Given the description of an element on the screen output the (x, y) to click on. 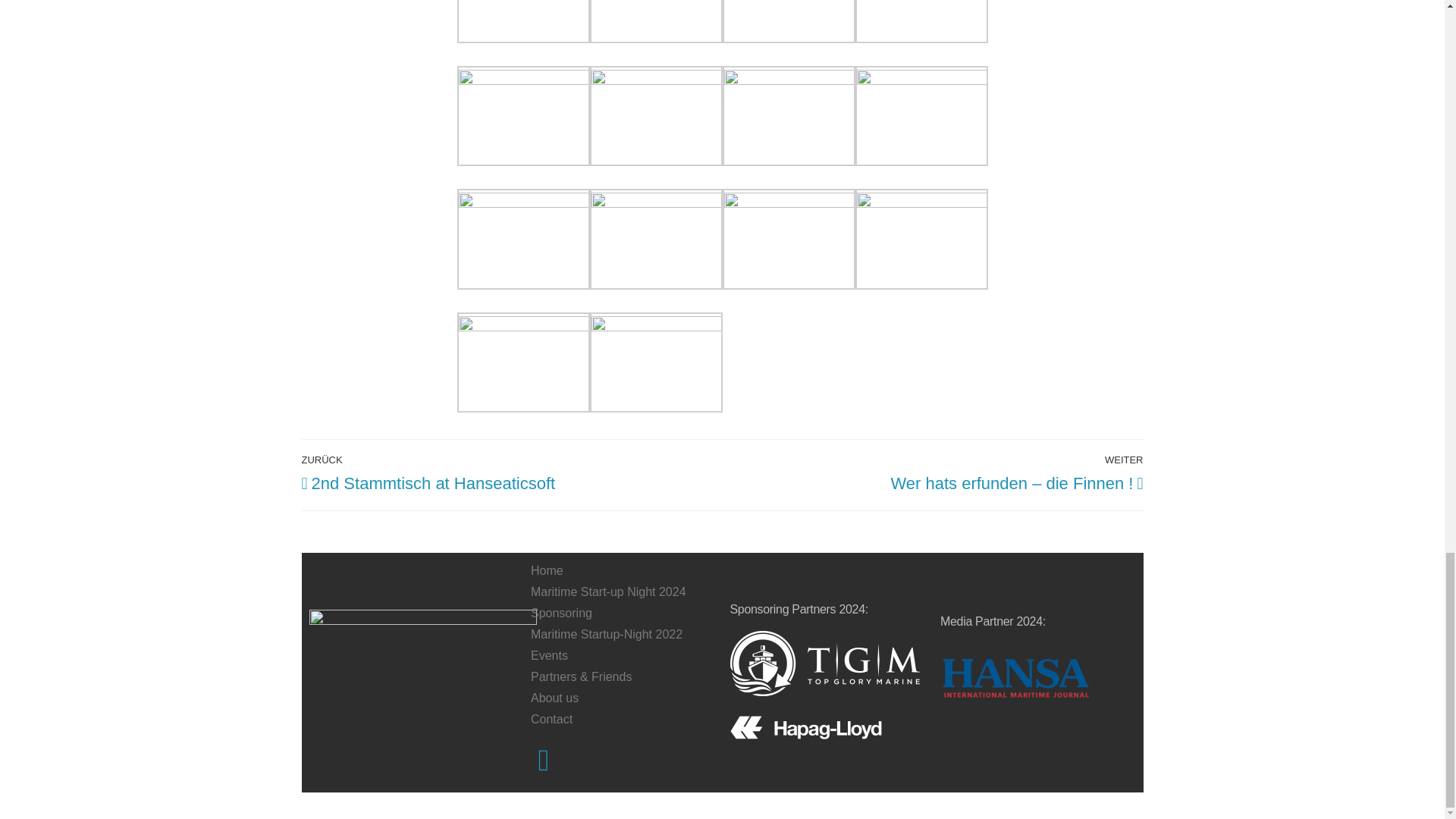
Hapag-Lloyd-neg (804, 727)
